Given the description of an element on the screen output the (x, y) to click on. 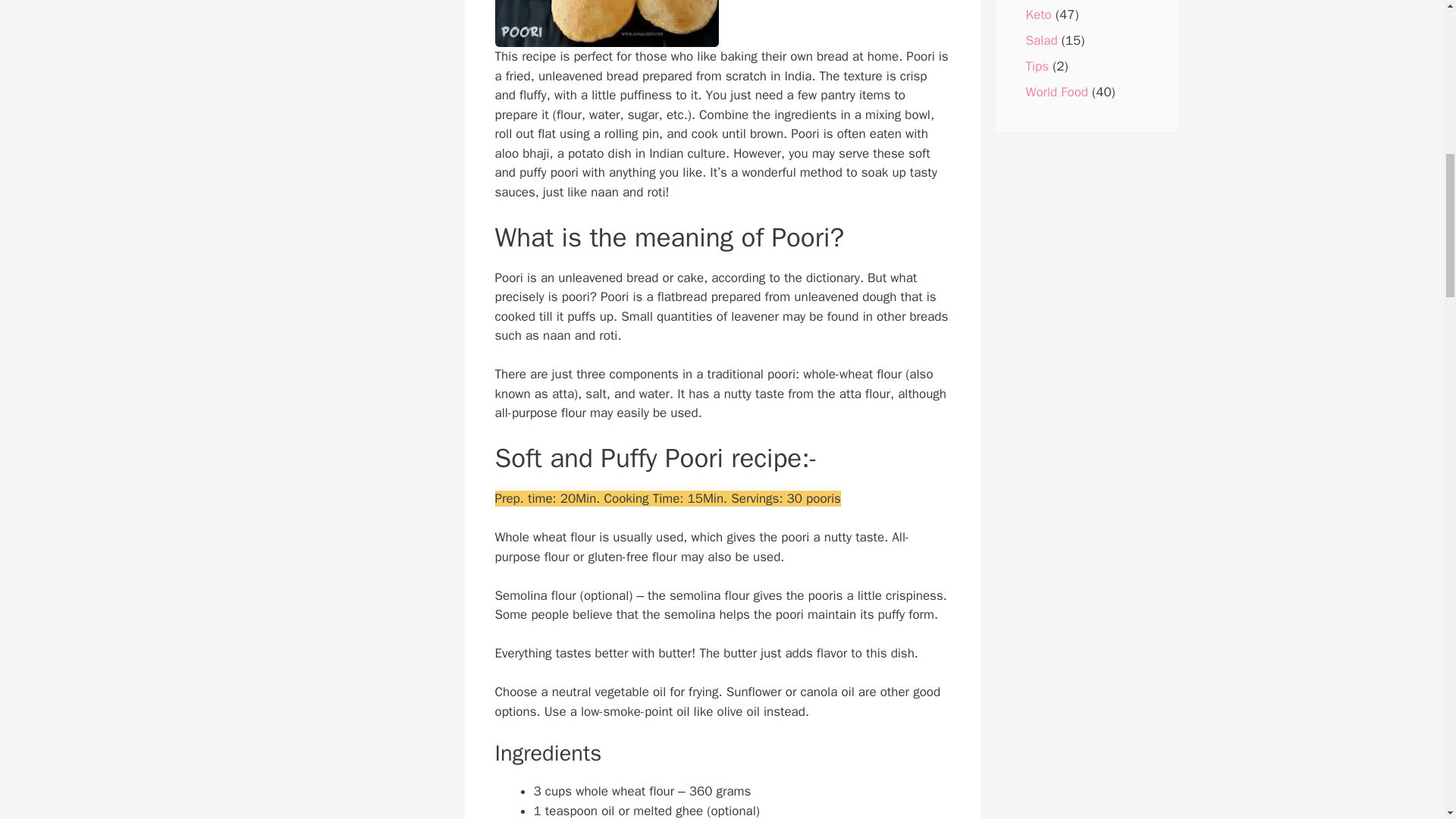
Salad (1041, 39)
Scroll back to top (1406, 720)
Keto (1038, 13)
Tips (1036, 65)
World Food (1056, 91)
How to Make Soft and Puffy Poori at Home 2 (606, 23)
